Given the description of an element on the screen output the (x, y) to click on. 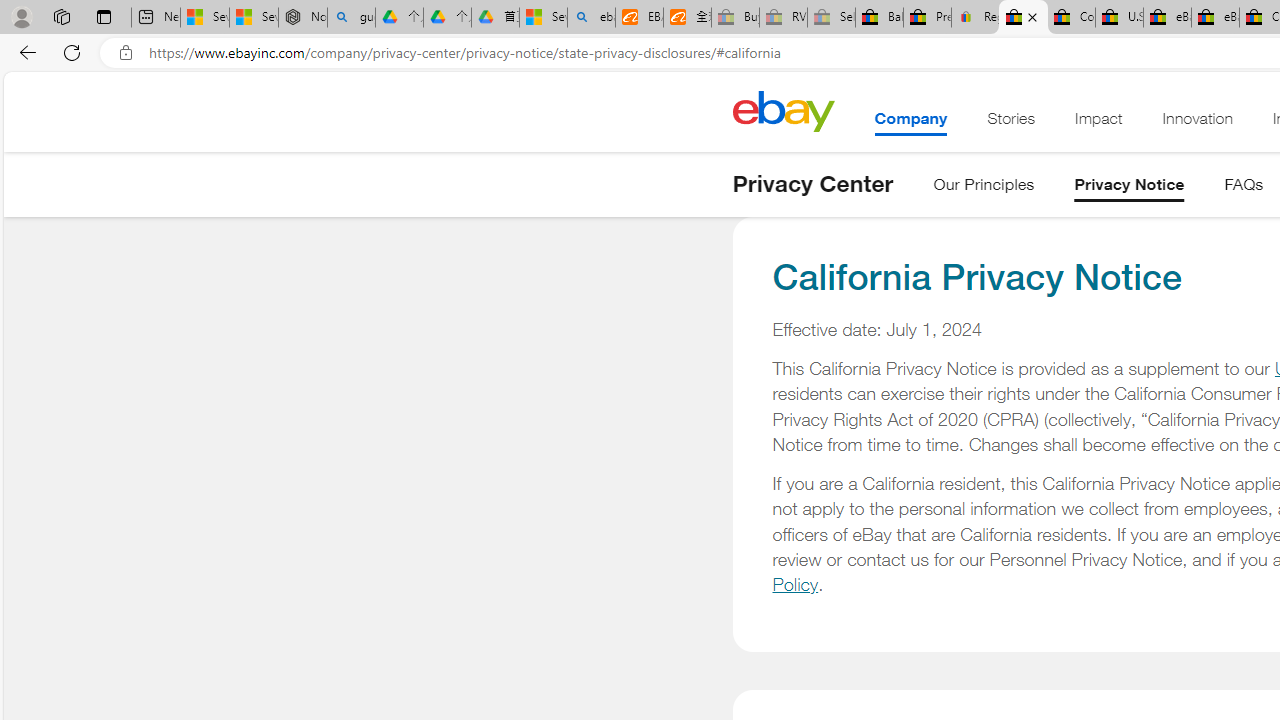
FAQs (1243, 188)
Consumer Health Data Privacy Policy - eBay Inc. (1071, 17)
guge yunpan - Search (351, 17)
Press Room - eBay Inc. (927, 17)
Sell worldwide with eBay - Sleeping (831, 17)
Privacy Center (812, 183)
